Given the description of an element on the screen output the (x, y) to click on. 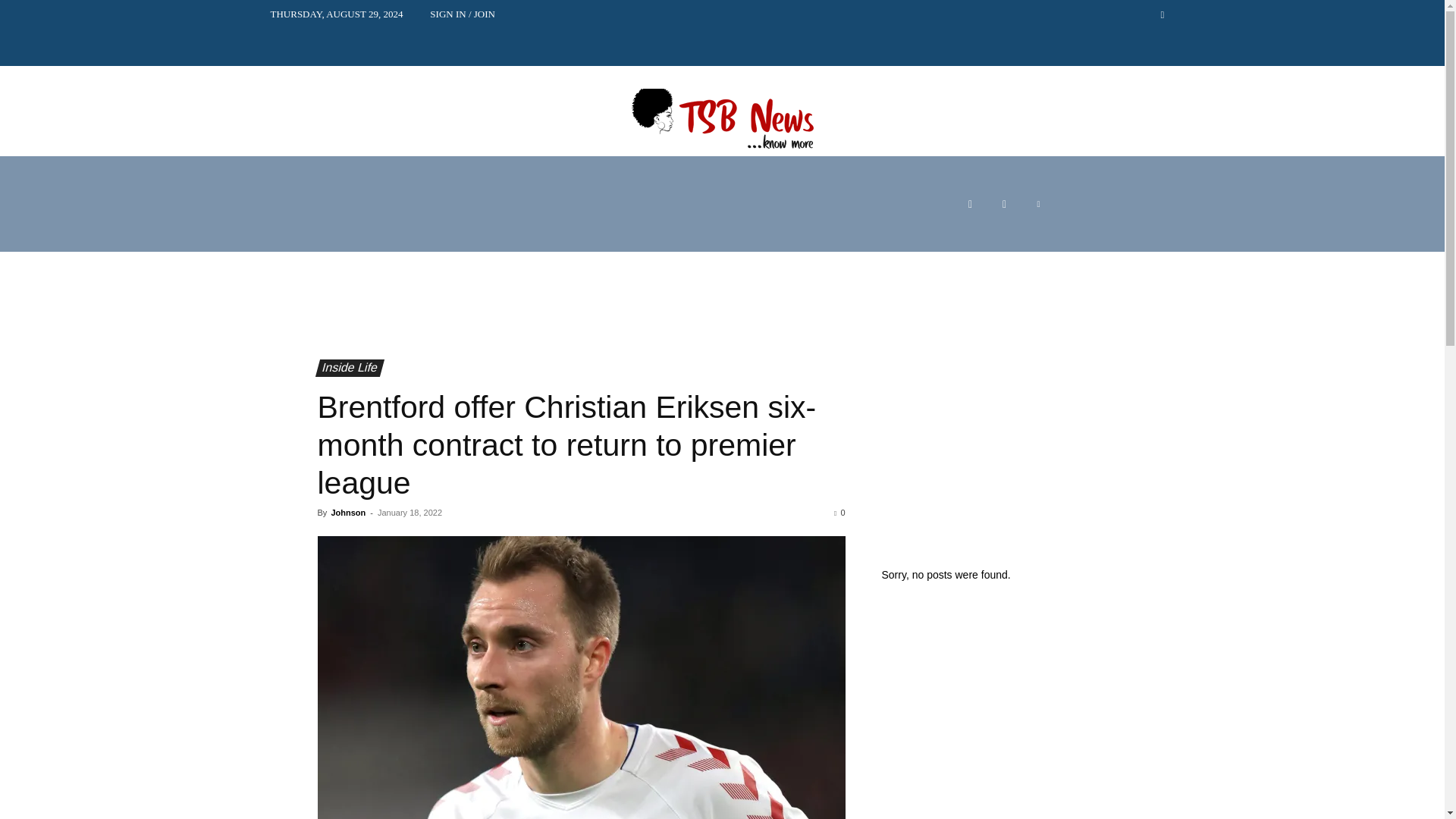
0 (839, 511)
Inside Life (346, 367)
Facebook (970, 203)
Twitter (1038, 203)
Johnson (347, 511)
Instagram (1004, 203)
